Given the description of an element on the screen output the (x, y) to click on. 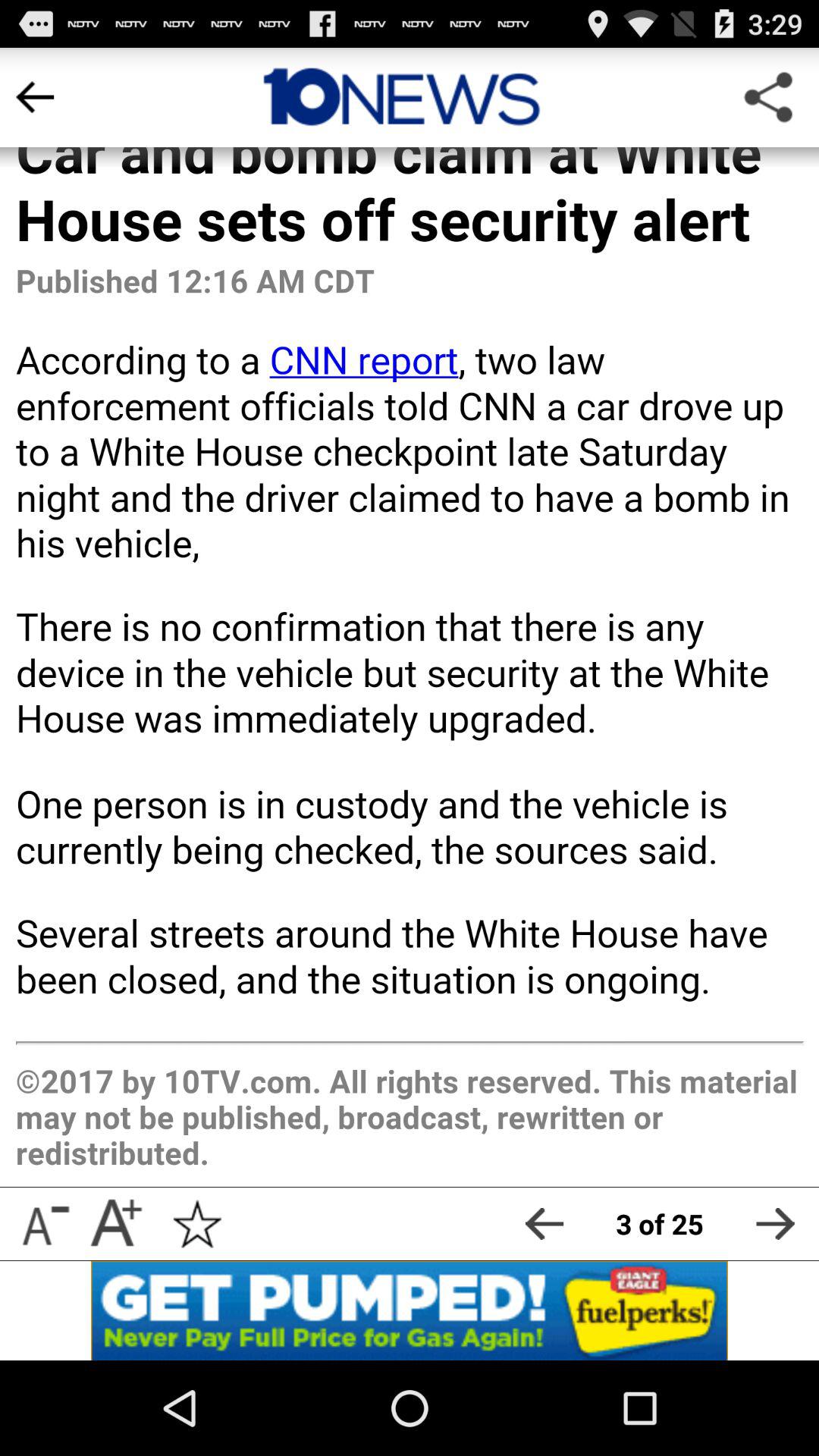
select the entire article (409, 616)
